Given the description of an element on the screen output the (x, y) to click on. 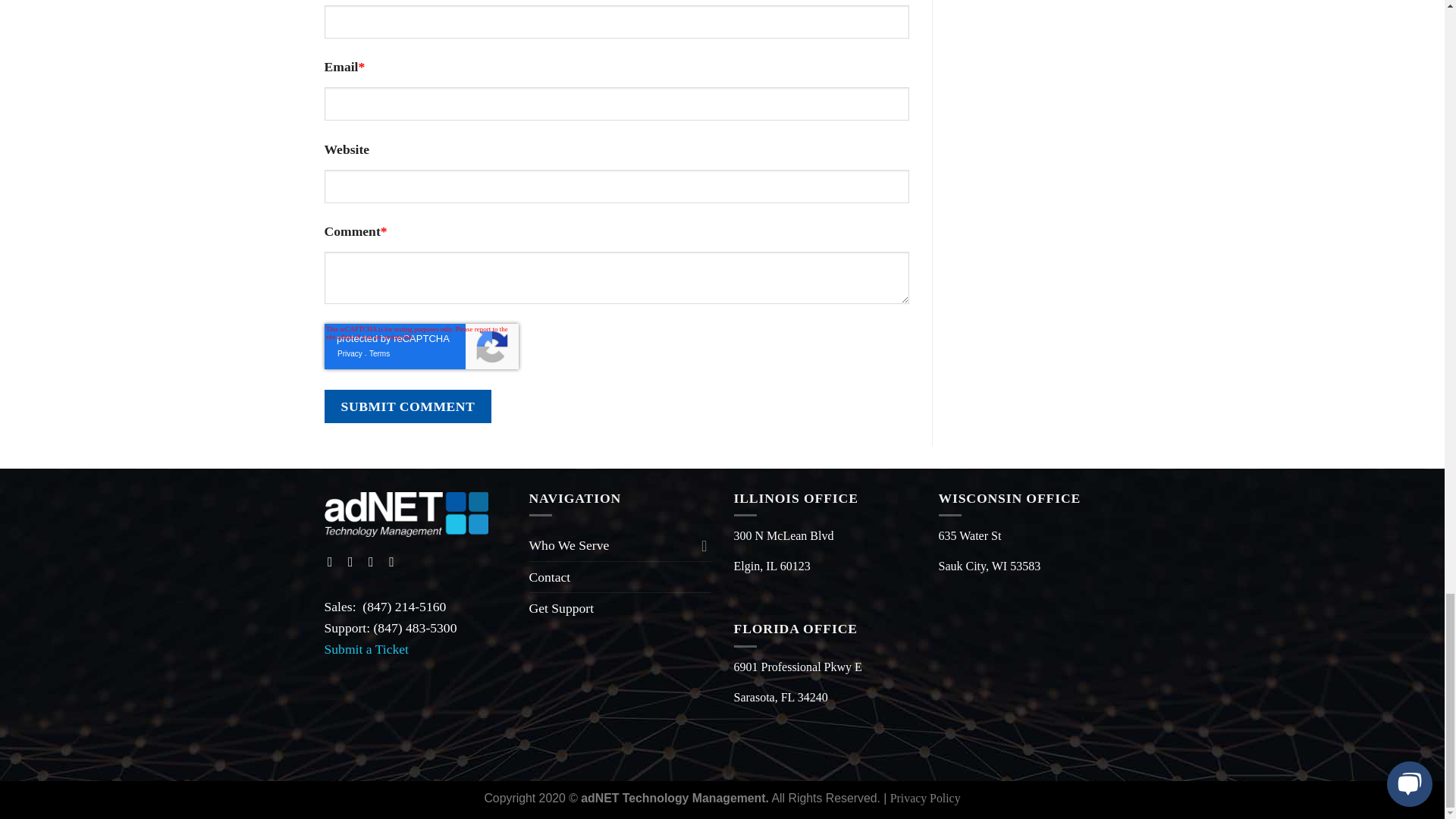
reCAPTCHA (421, 346)
Submit Comment (408, 406)
adnet (405, 514)
